Given the description of an element on the screen output the (x, y) to click on. 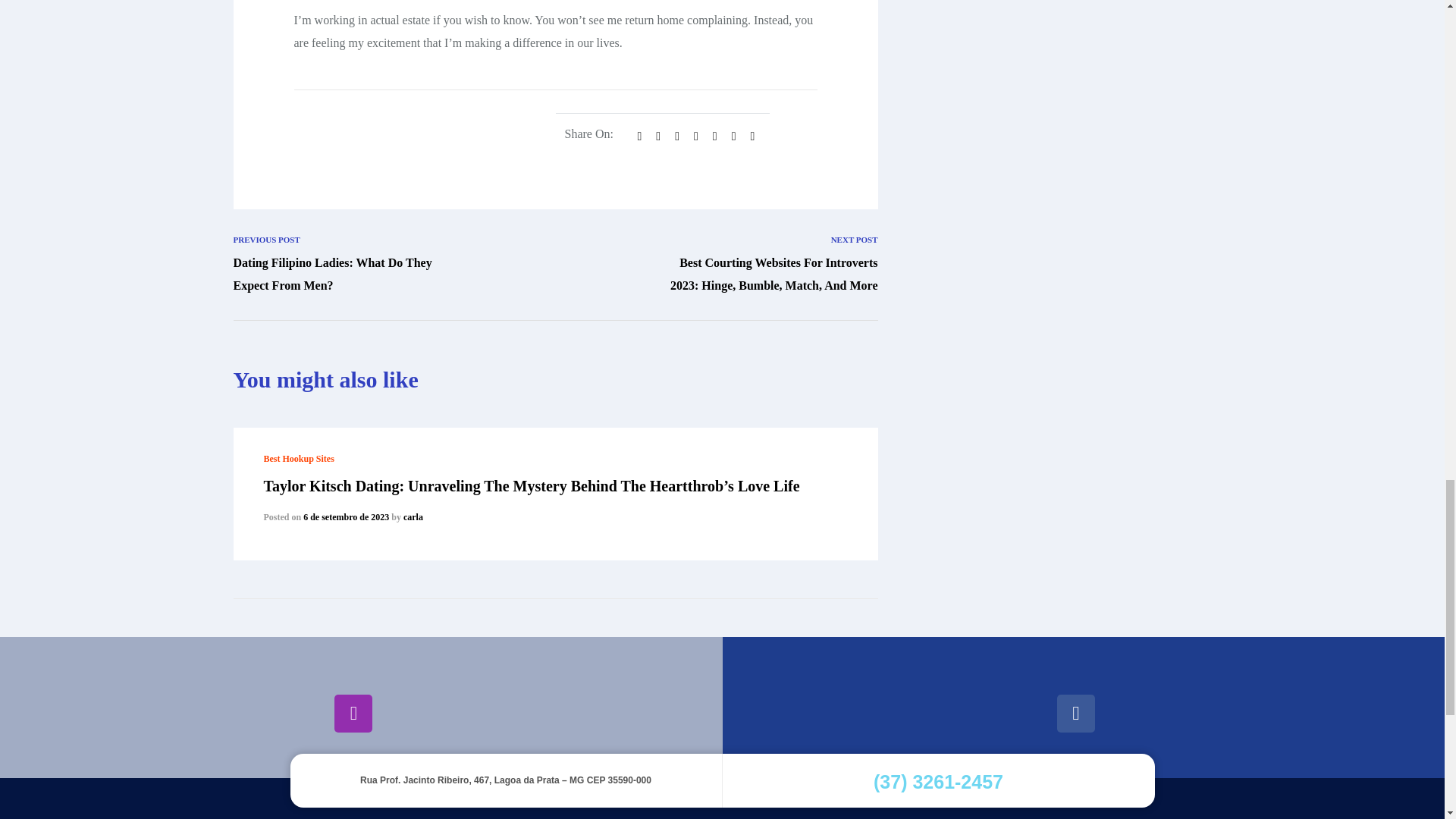
Best Hookup Sites (298, 458)
6 de setembro de 2023 (345, 516)
